Given the description of an element on the screen output the (x, y) to click on. 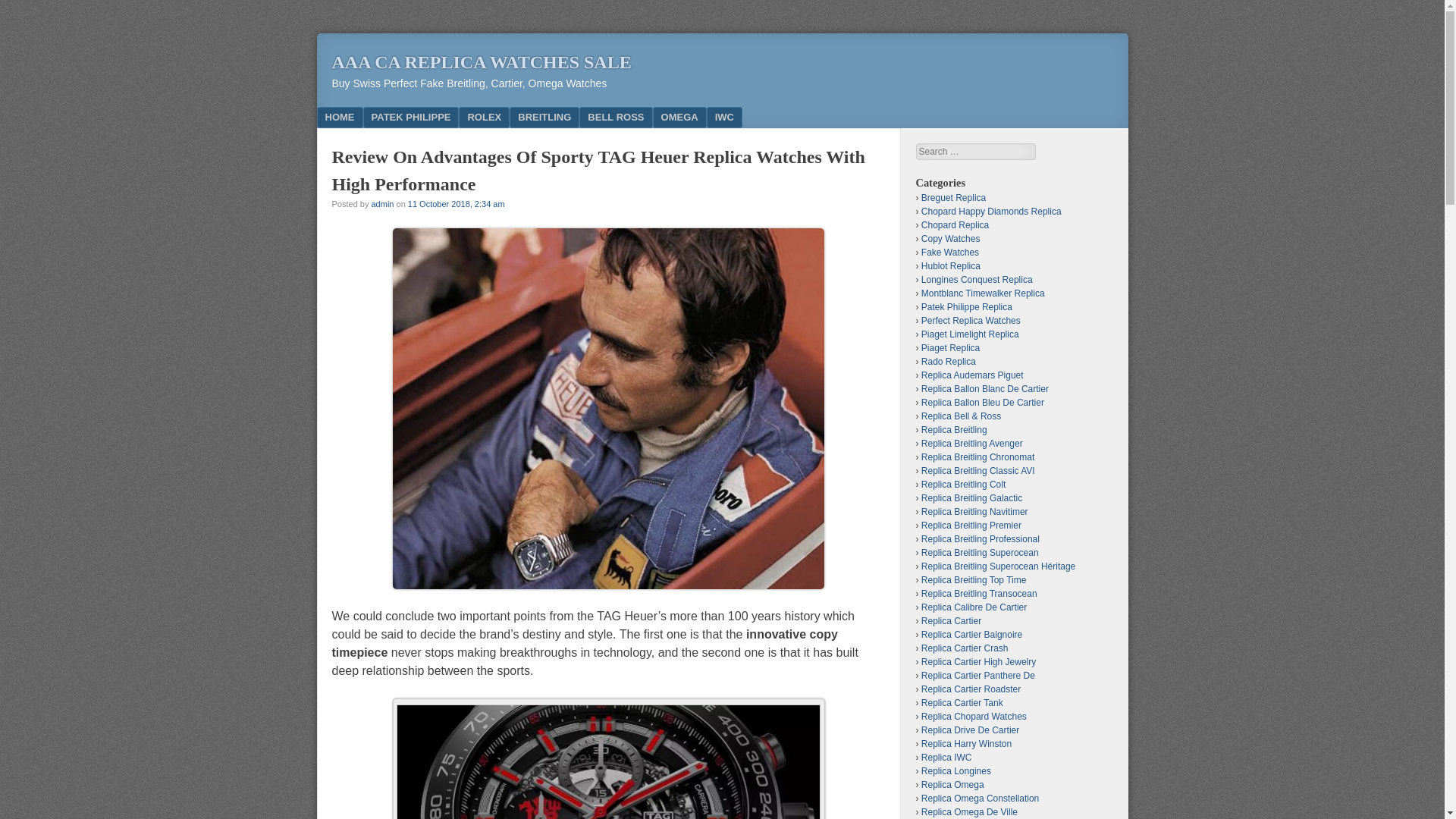
Fake Watches (949, 252)
IWC (724, 117)
admin (382, 203)
Breguet Replica (953, 197)
BREITLING (544, 117)
Replica Audemars Piguet (972, 375)
PATEK PHILIPPE (410, 117)
Skip to content (370, 117)
BELL ROSS (615, 117)
AAA CA Replica Watches Sale (481, 62)
Hublot Replica (950, 266)
Replica Ballon Bleu De Cartier (982, 402)
Replica Breitling (954, 429)
View all posts by admin (382, 203)
HOME (339, 117)
